Given the description of an element on the screen output the (x, y) to click on. 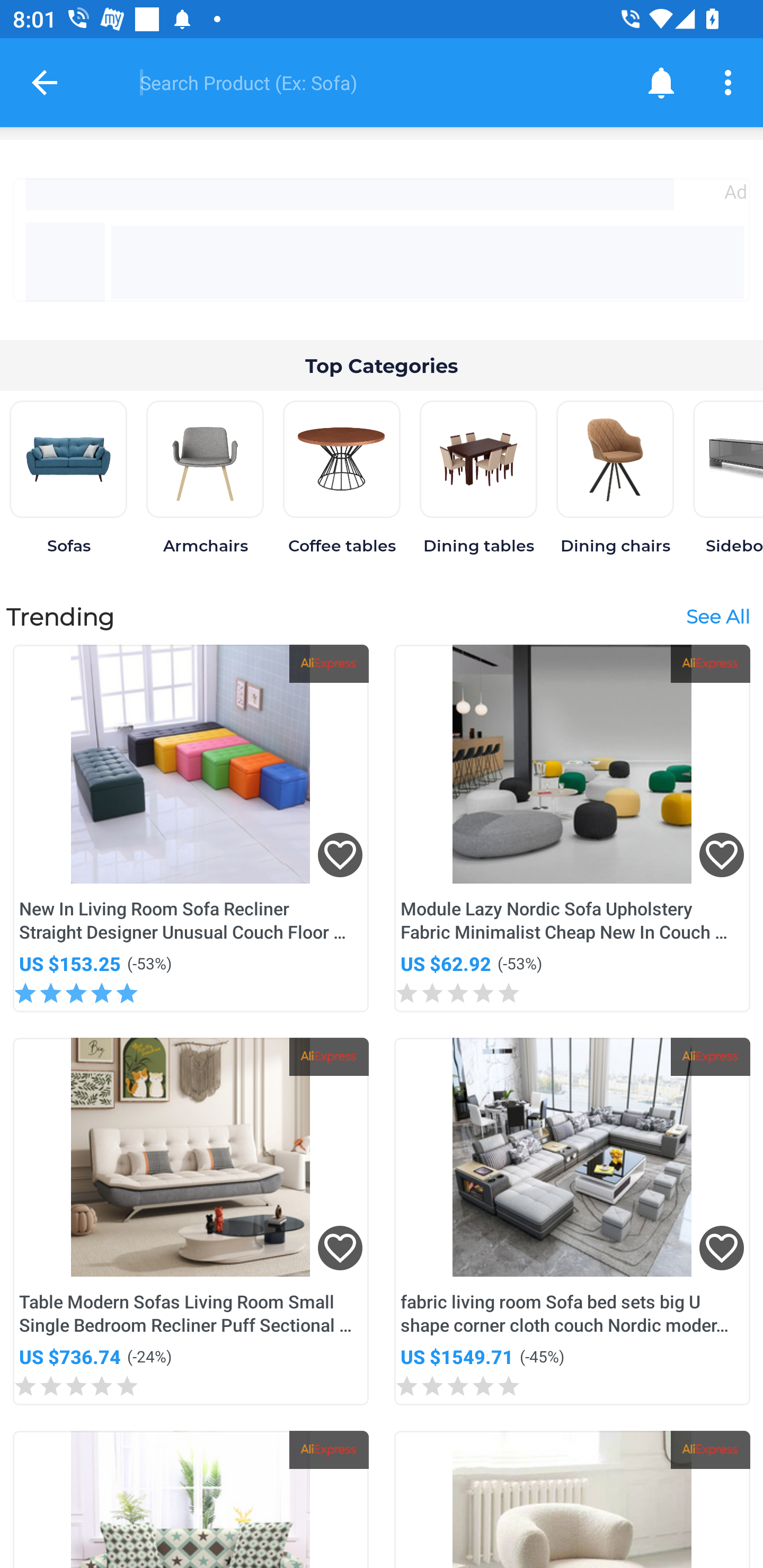
Collapse (44, 82)
More options (731, 81)
Search Product (Ex: Sofa) (368, 82)
See All (717, 615)
